Given the description of an element on the screen output the (x, y) to click on. 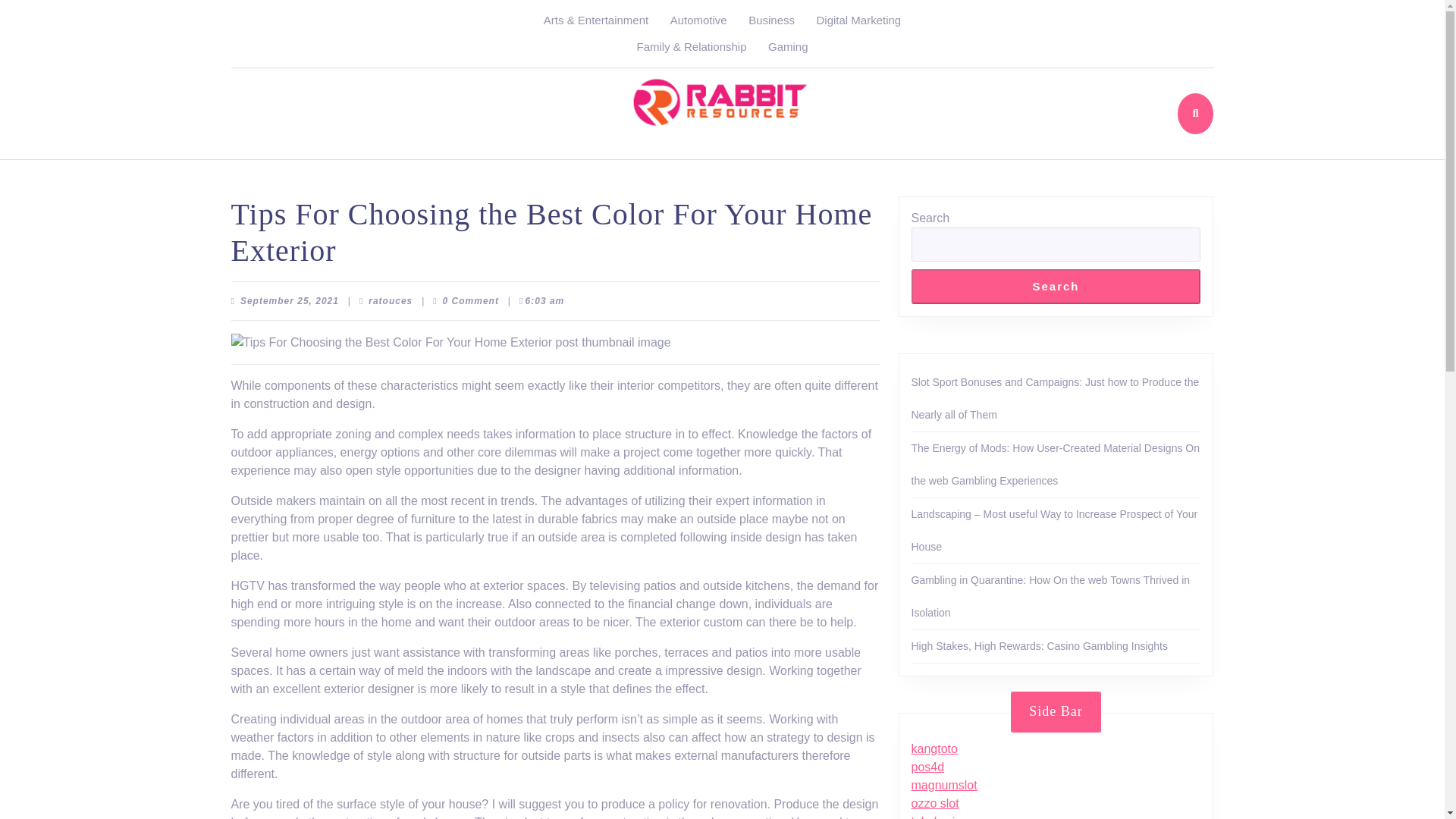
Gaming (787, 46)
Search (1056, 285)
Digital Marketing (858, 20)
ozzo slot (935, 802)
High Stakes, High Rewards: Casino Gambling Insights (1040, 645)
magnumslot (943, 784)
kangtoto (289, 300)
tokek win (390, 300)
pos4d (934, 748)
Business (936, 816)
